Given the description of an element on the screen output the (x, y) to click on. 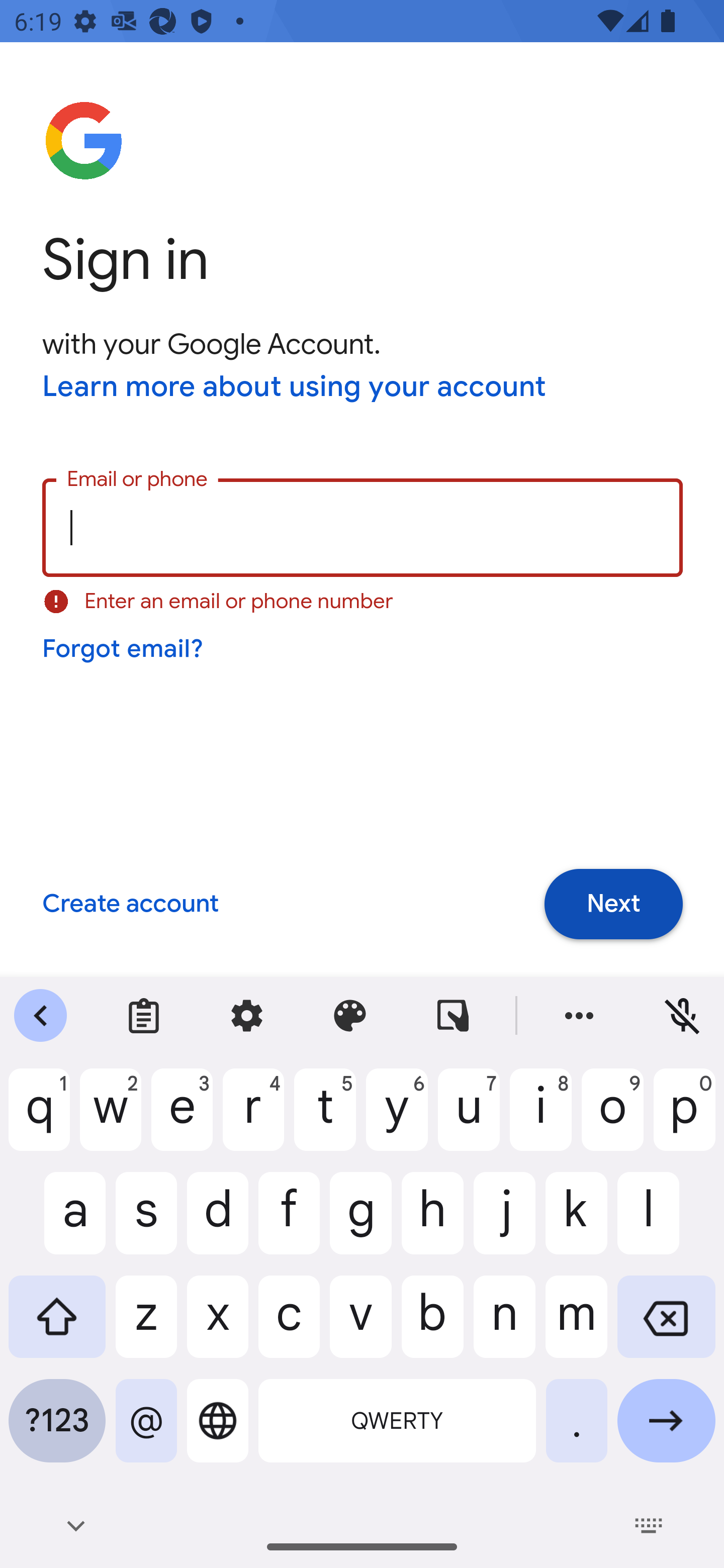
Learn more about using your account (294, 388)
Forgot email? (123, 648)
Create account (129, 904)
Next (613, 904)
